Given the description of an element on the screen output the (x, y) to click on. 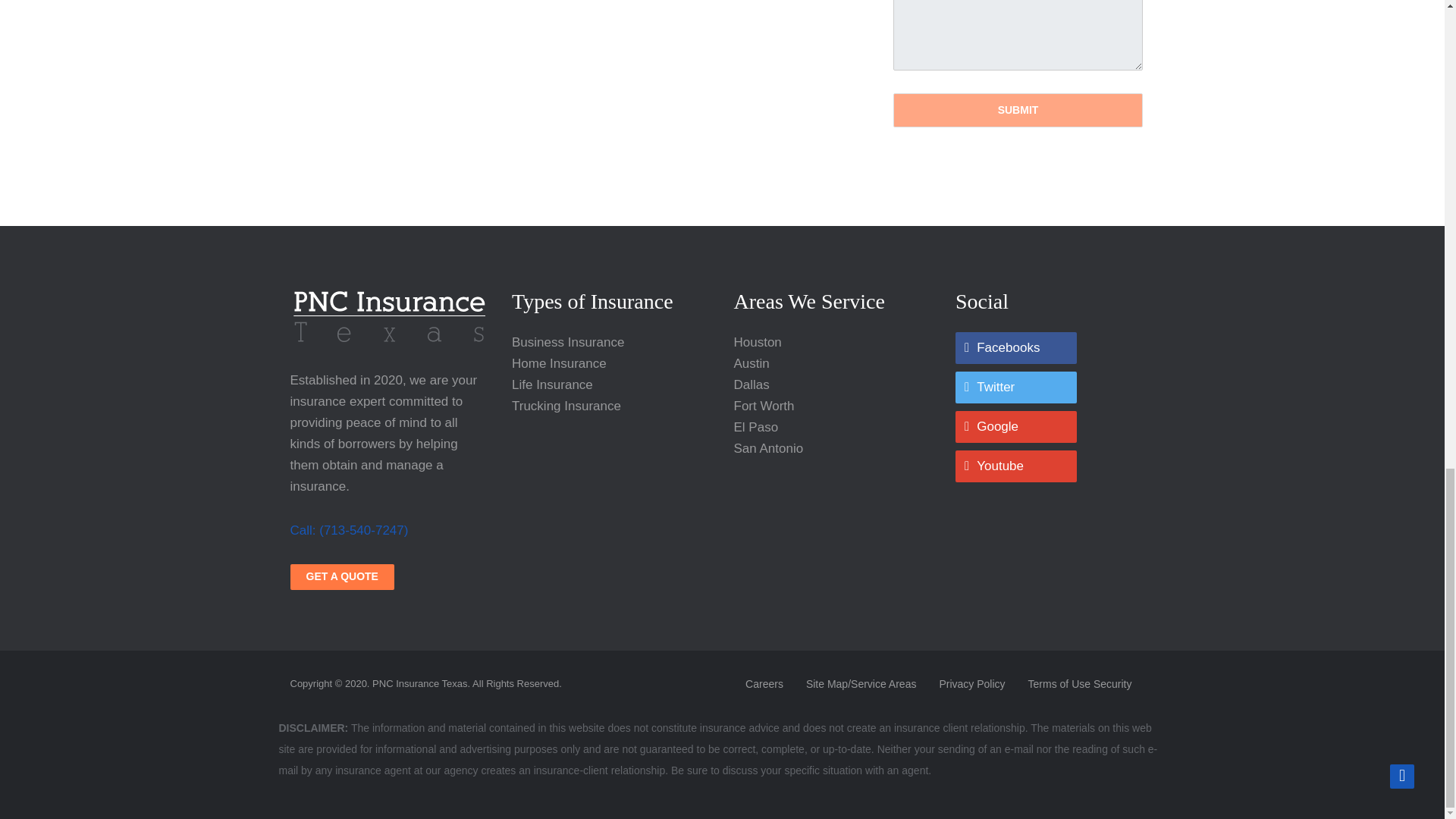
Submit (1017, 110)
